Given the description of an element on the screen output the (x, y) to click on. 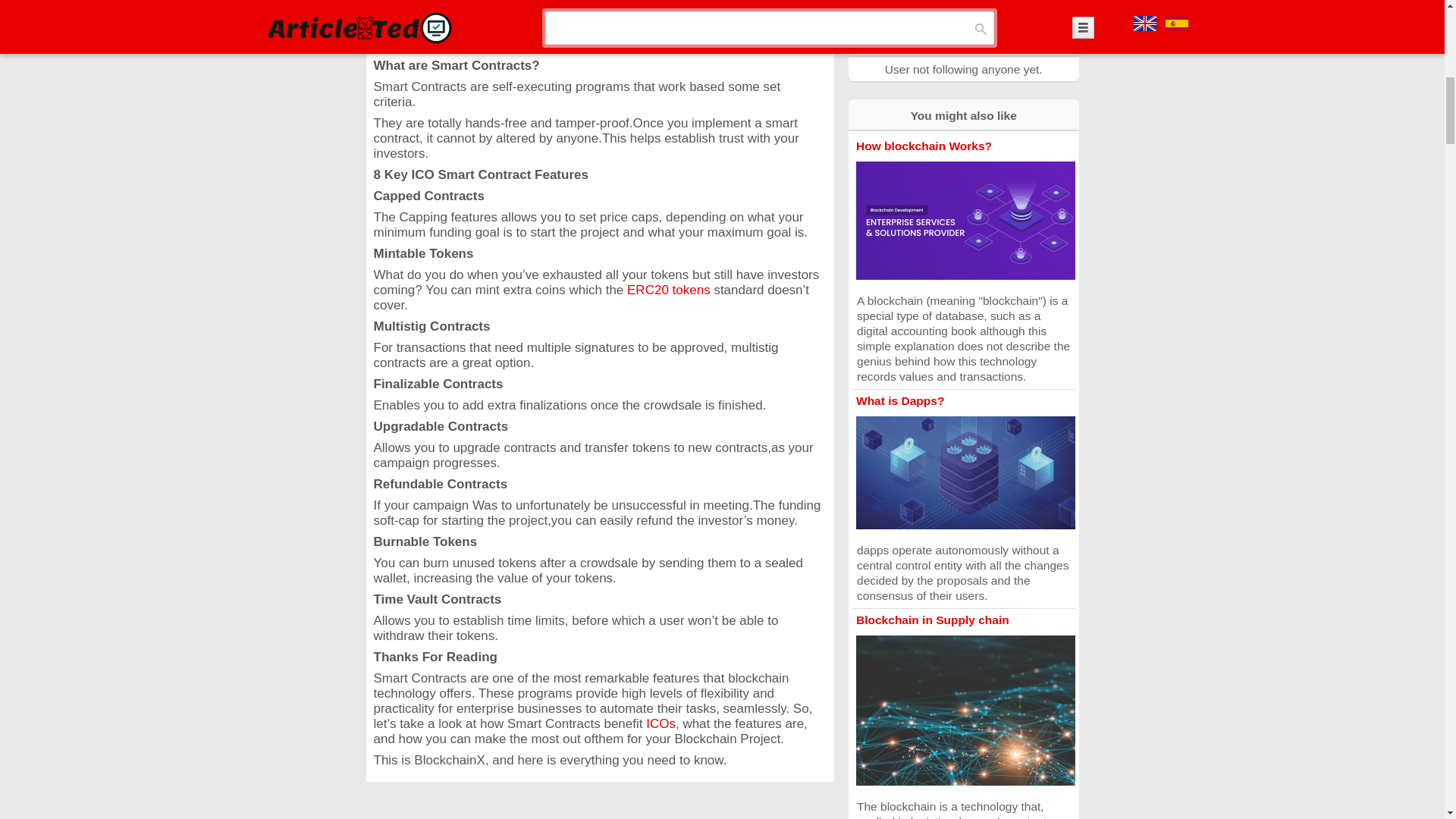
ICOs (660, 723)
What is Dapps? (899, 400)
ERC20 tokens (668, 289)
Blockchain in Supply chain (932, 619)
How blockchain Works? (923, 145)
